Given the description of an element on the screen output the (x, y) to click on. 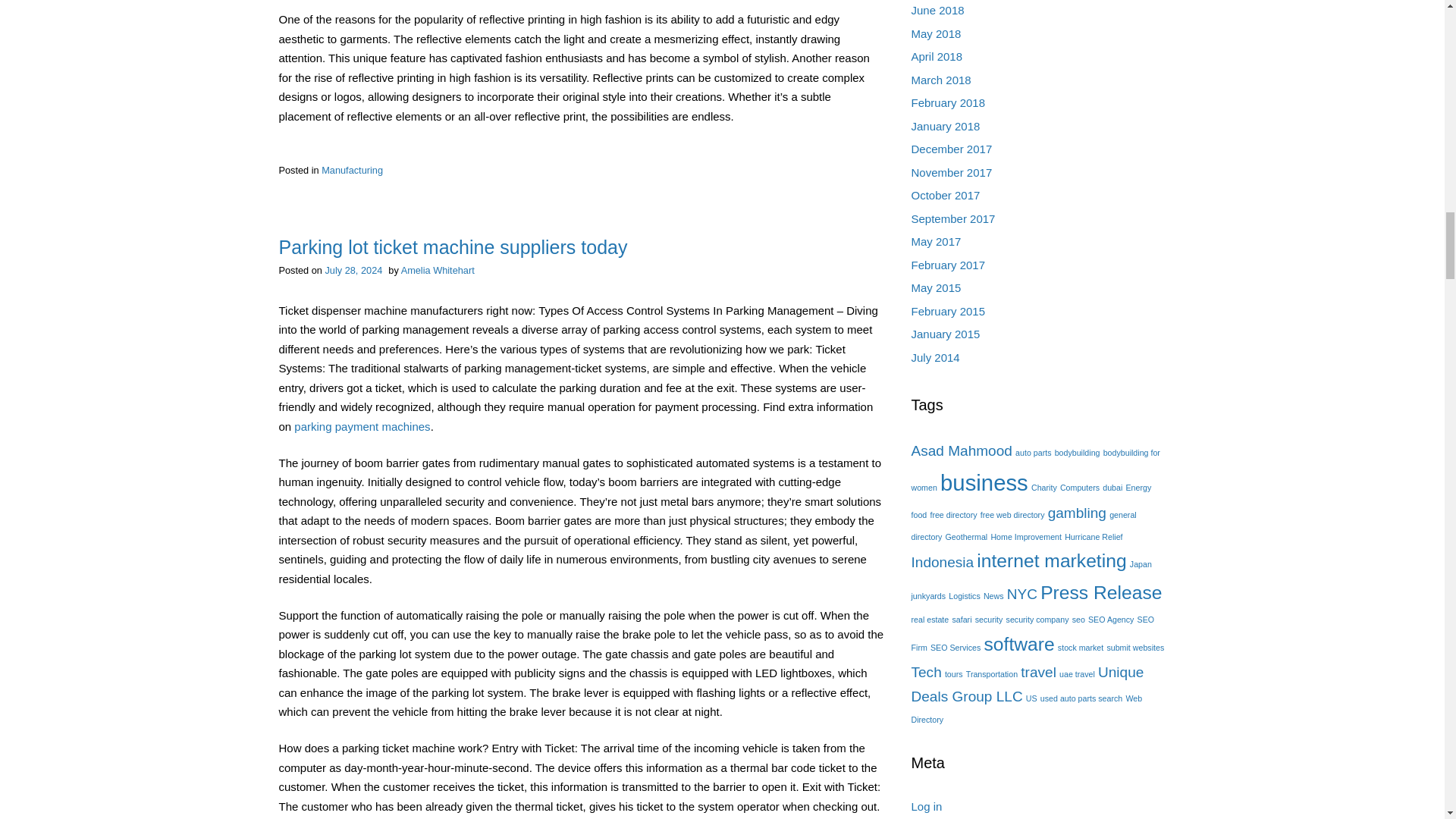
July 28, 2024 (352, 270)
Parking lot ticket machine suppliers today (453, 246)
Manufacturing (351, 170)
Amelia Whitehart (437, 270)
parking payment machines (361, 426)
